Given the description of an element on the screen output the (x, y) to click on. 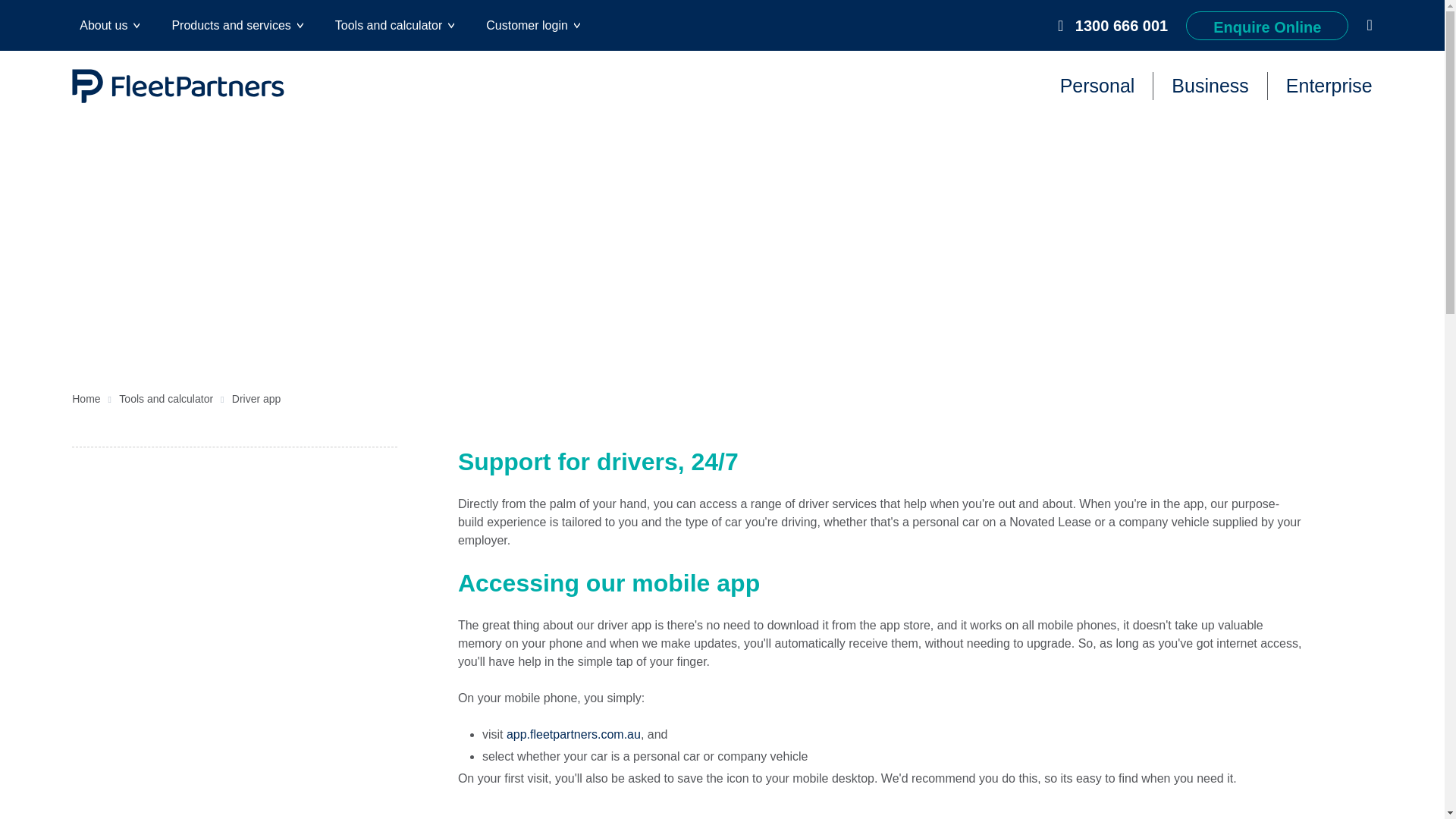
Tools and calculator (394, 25)
Products and services (236, 25)
Customer login (533, 25)
About us (109, 25)
Enquire Online (1267, 24)
